Given the description of an element on the screen output the (x, y) to click on. 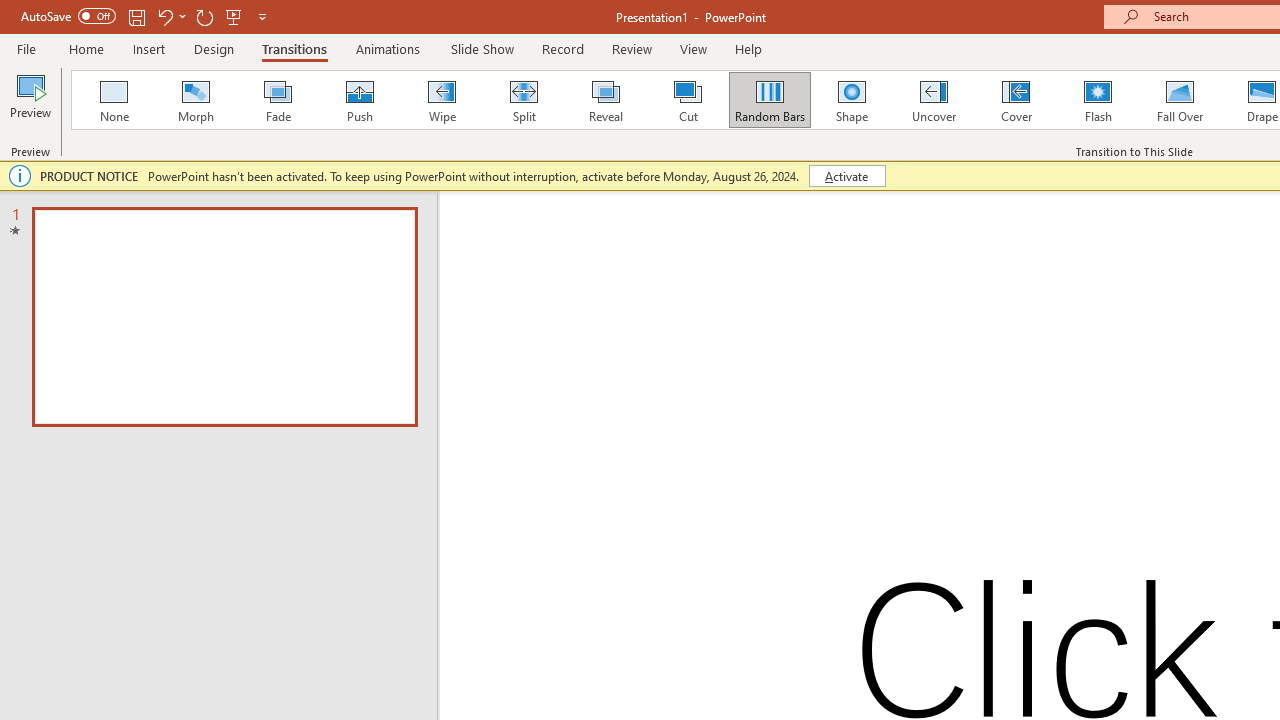
Random Bars (770, 100)
Cover (1016, 100)
